Given the description of an element on the screen output the (x, y) to click on. 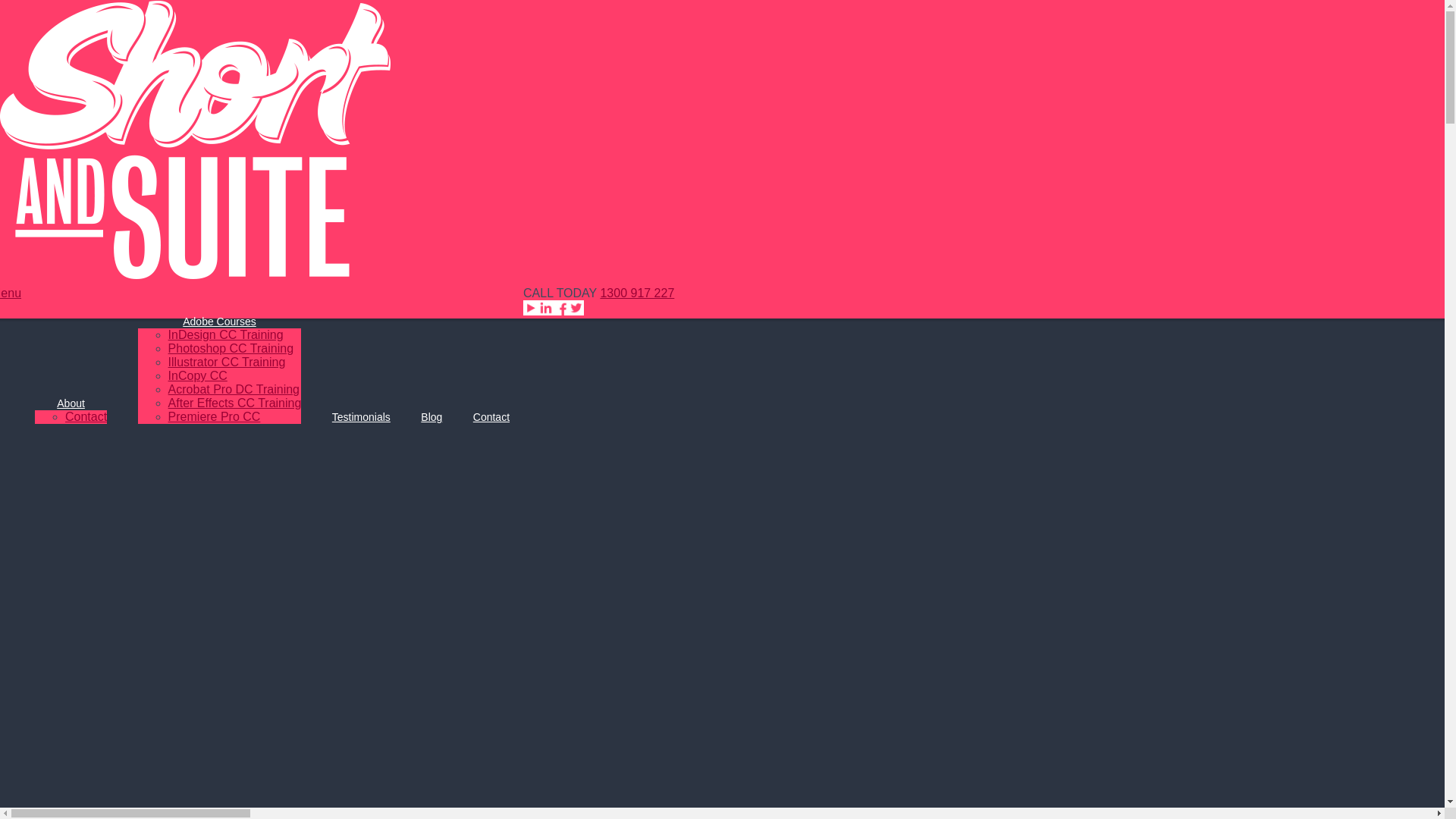
Illustrator CC Training Element type: text (226, 361)
Contact Element type: text (491, 417)
InDesign CC Training Element type: text (225, 334)
Photoshop CC Training Element type: text (230, 348)
Premiere Pro CC Element type: text (214, 416)
MORE INFO Element type: text (868, 71)
Adobe Courses Element type: text (219, 321)
1300 917 227 Element type: text (636, 292)
Blog Element type: text (431, 417)
After Effects CC Training Element type: text (234, 402)
Testimonials Element type: text (361, 417)
InCopy CC Element type: text (197, 375)
About Element type: text (70, 403)
Contact Element type: text (85, 416)
Acrobat Pro DC Training Element type: text (233, 388)
